Given the description of an element on the screen output the (x, y) to click on. 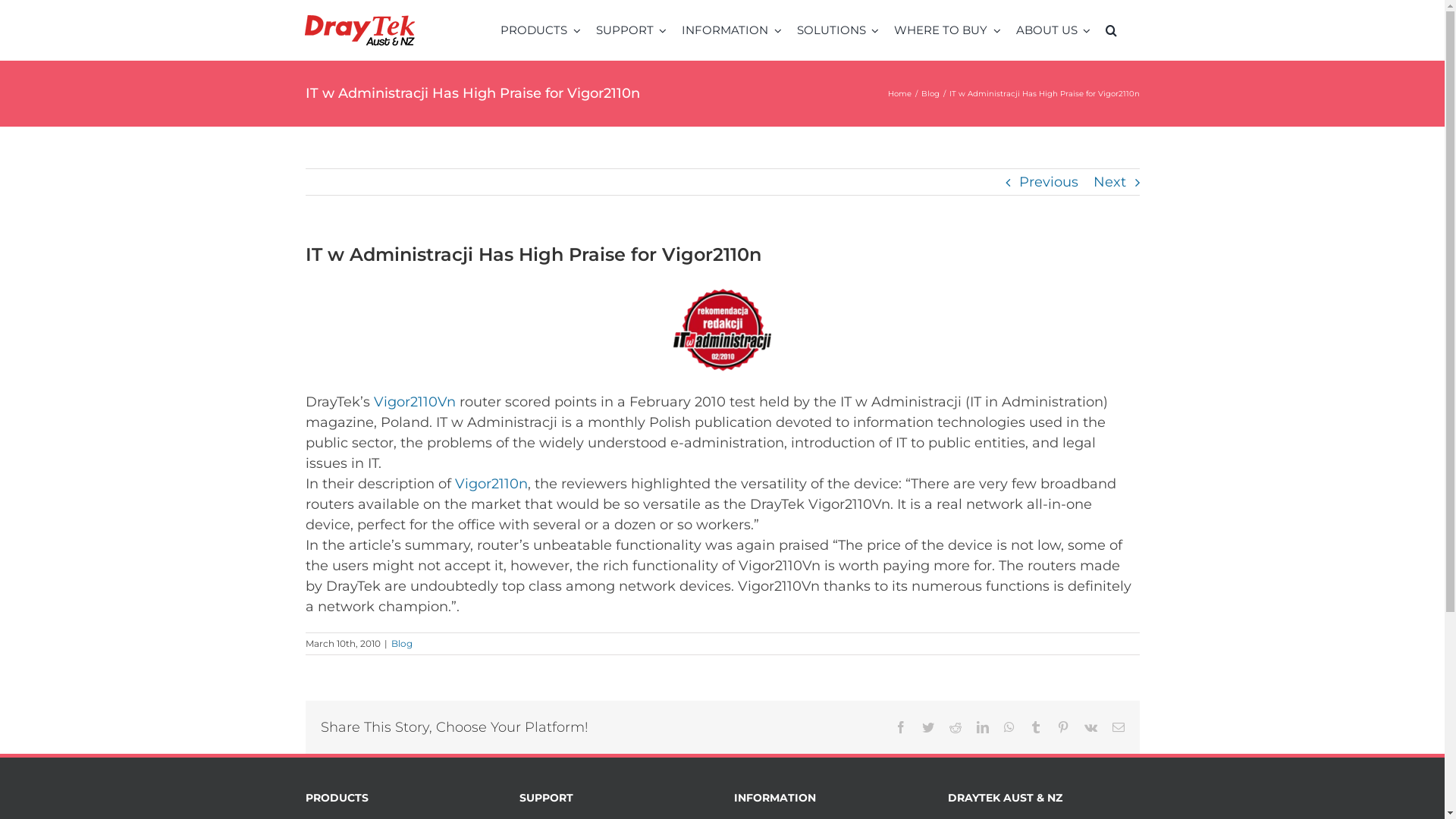
Vigor2110n Element type: text (491, 483)
WHERE TO BUY Element type: text (947, 30)
WhatsApp Element type: text (1009, 727)
INFORMATION Element type: text (731, 30)
Next Element type: text (1109, 181)
Vigor2110Vn Element type: text (414, 401)
Pinterest Element type: text (1063, 727)
Email Element type: text (1117, 727)
Search Element type: hover (1111, 30)
SOLUTIONS Element type: text (838, 30)
Blog Element type: text (401, 643)
Twitter Element type: text (928, 727)
Blog Element type: text (929, 93)
LinkedIn Element type: text (982, 727)
Tumblr Element type: text (1035, 727)
ABOUT US Element type: text (1053, 30)
PRODUCTS Element type: text (540, 30)
Reddit Element type: text (955, 727)
Facebook Element type: text (900, 727)
Home Element type: text (898, 93)
Previous Element type: text (1048, 181)
Vk Element type: text (1090, 727)
SUPPORT Element type: text (631, 30)
